Given the description of an element on the screen output the (x, y) to click on. 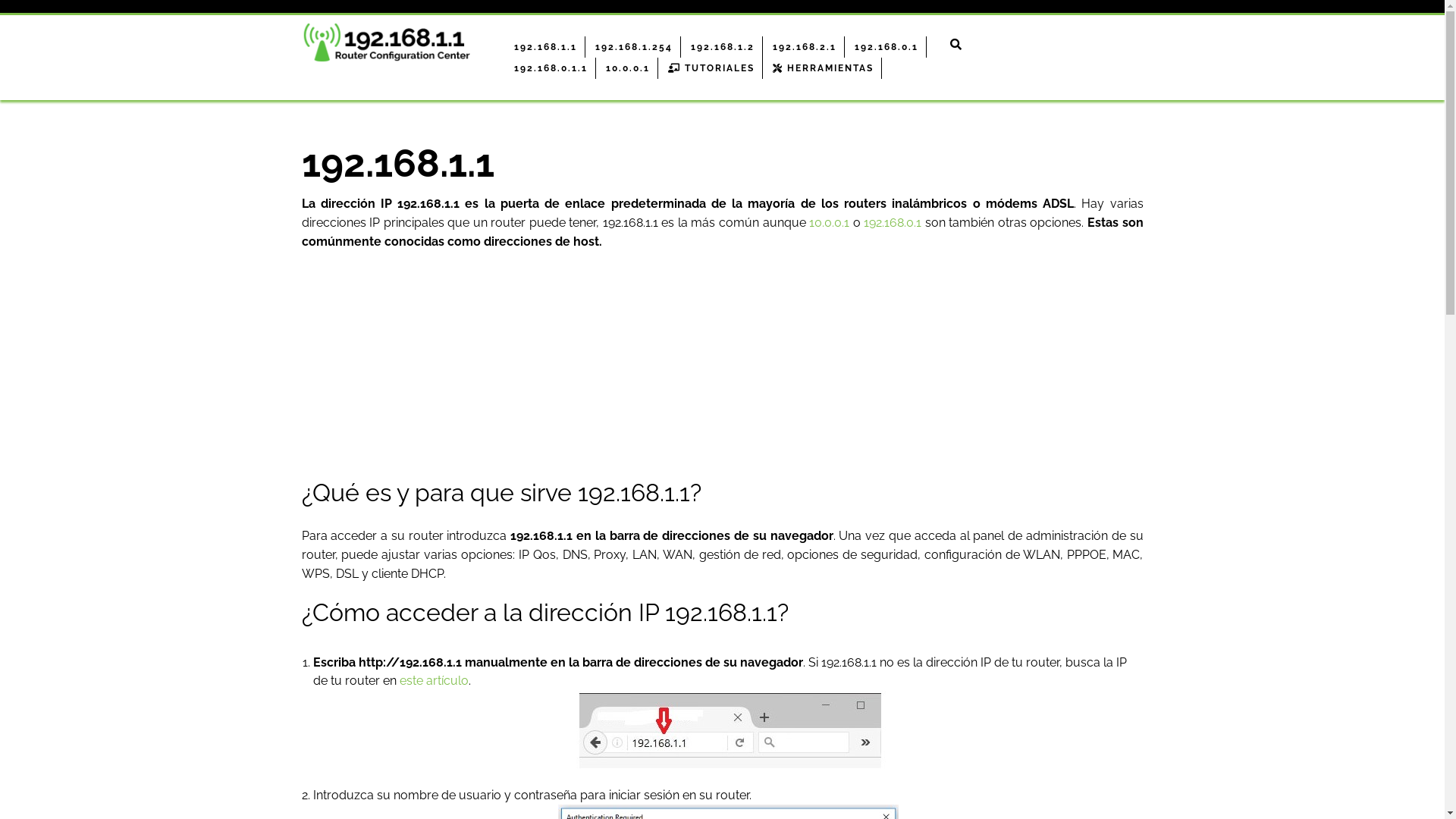
192.168.1.2 Element type: text (722, 46)
192.168.2.1 Element type: text (804, 46)
Advertisement Element type: hover (722, 372)
HERRAMIENTAS Element type: text (822, 67)
10.0.0.1 Element type: text (627, 67)
192.168.0.1 Element type: text (885, 46)
192.168.0.1 Element type: text (892, 222)
192.168.1.254 Element type: text (633, 46)
192.168.1.1 Element type: text (545, 46)
10.0.0.1 Element type: text (829, 222)
TUTORIALES Element type: text (710, 67)
192.168.0.1.1 Element type: text (551, 67)
